Given the description of an element on the screen output the (x, y) to click on. 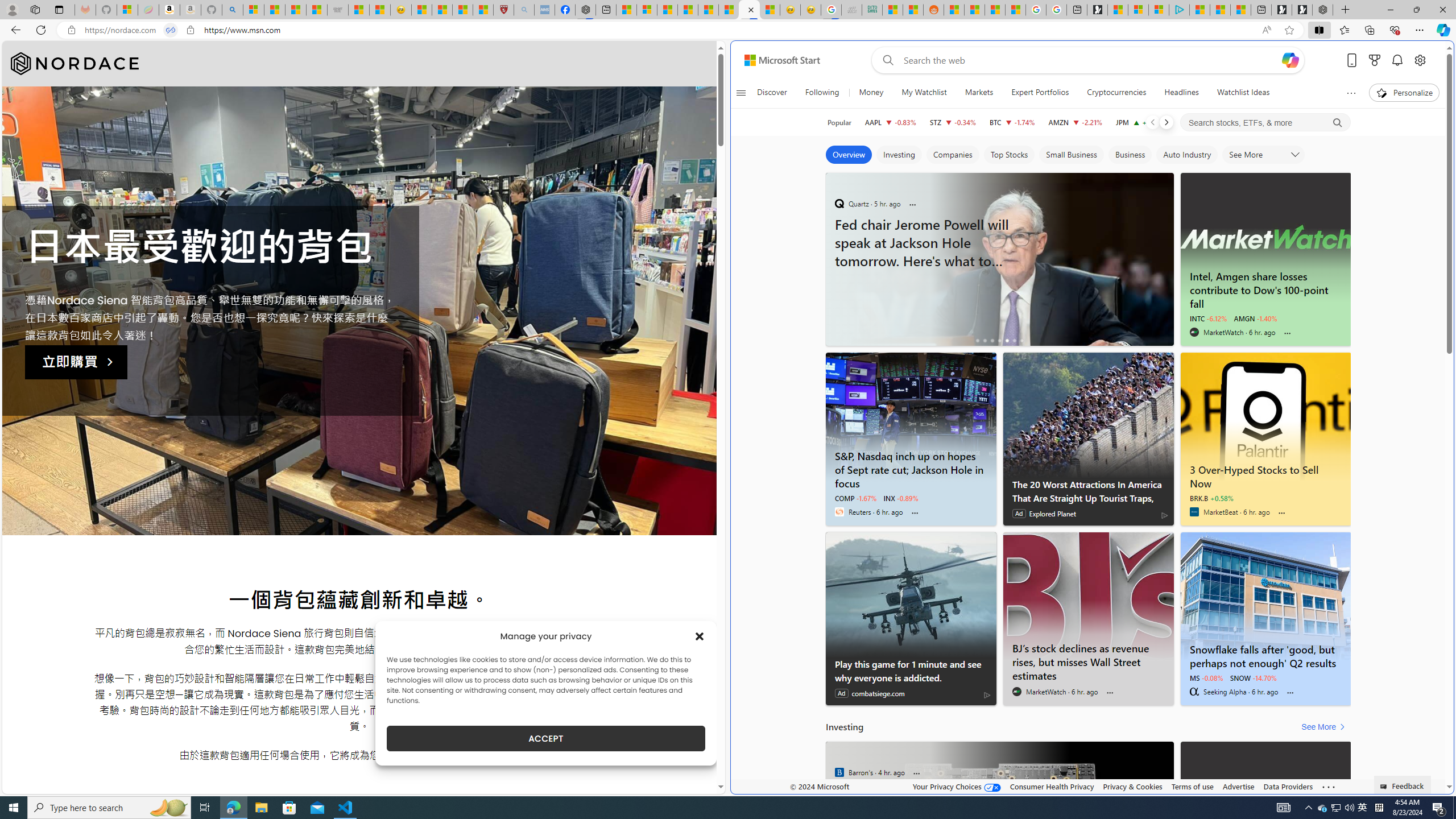
2024 Time Limited Rental Deals (998, 257)
Tabs in split screen (170, 29)
STZ CONSTELLATION BRANDS, INC. decrease 243.92 -0.82 -0.34% (952, 122)
AAPL APPLE INC. decrease 224.53 -1.87 -0.83% (890, 122)
Class: feedback_link_icon-DS-EntryPoint1-1 (1384, 786)
BTC Bitcoin decrease 60,359.26 -1,049.65 -1.74% (1012, 122)
